Given the description of an element on the screen output the (x, y) to click on. 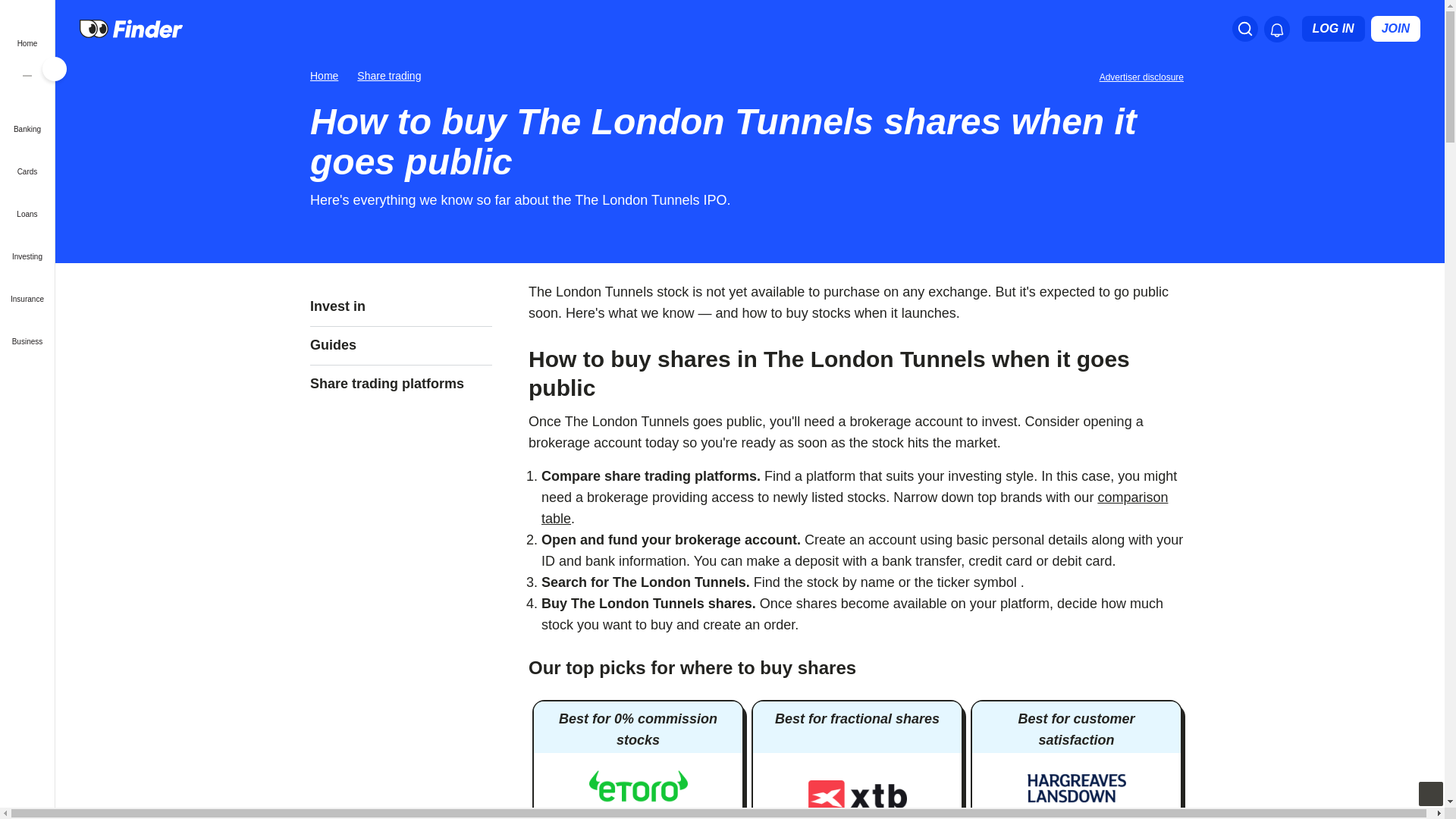
Important information about this website (1144, 76)
Go to XTB (857, 793)
Go to Hargreaves Lansdown (1076, 788)
comparison table (854, 507)
Go to eToro (638, 788)
